Given the description of an element on the screen output the (x, y) to click on. 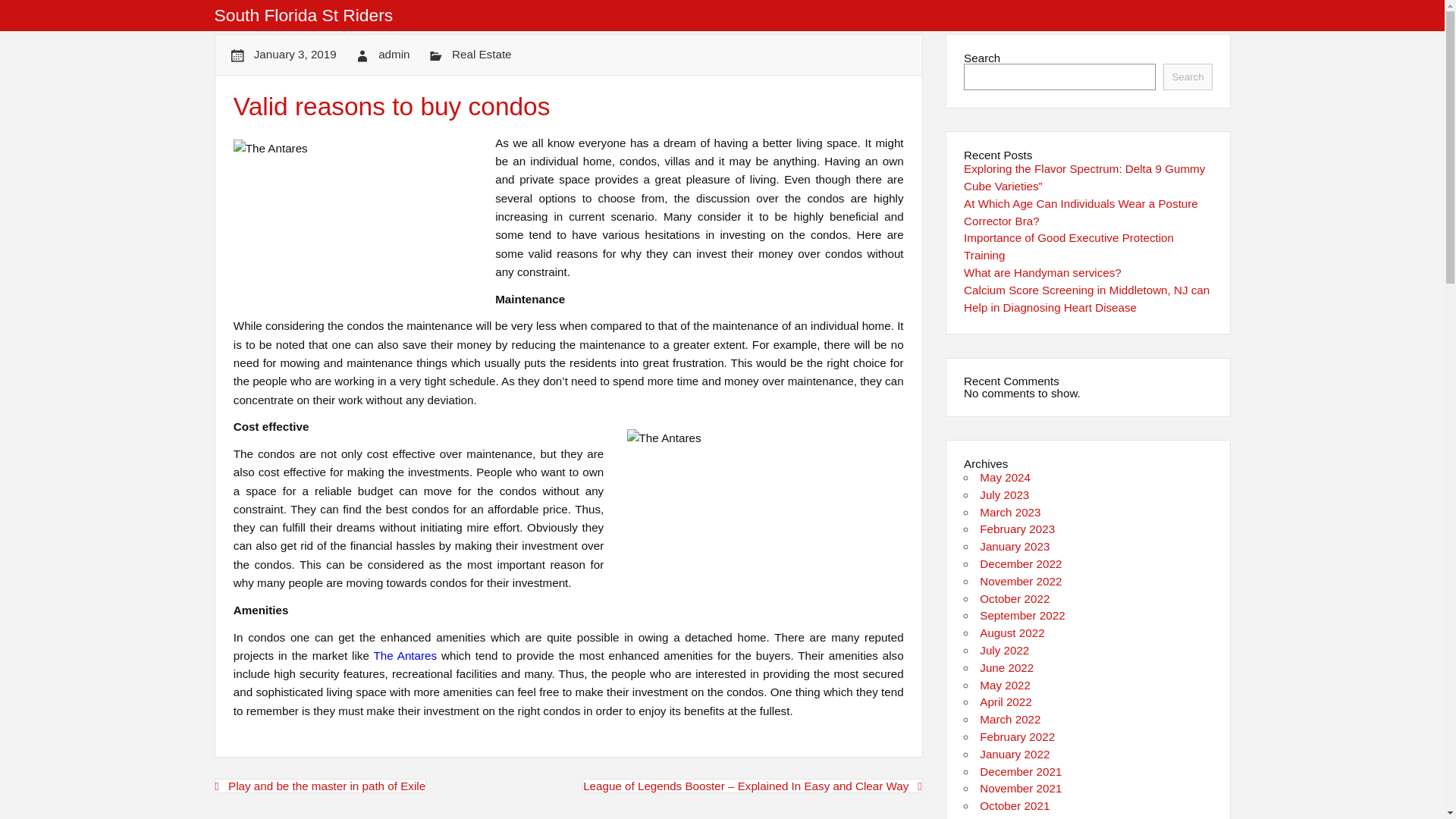
October 2021 (1014, 805)
December 2022 (1020, 563)
May 2024 (1004, 477)
December 2021 (1020, 771)
July 2022 (1004, 649)
June 2022 (1006, 667)
South Florida St Riders (303, 15)
The Antares (406, 655)
Search (1187, 76)
February 2023 (1016, 528)
View all posts by admin (393, 53)
April 2022 (1004, 701)
November 2021 (1020, 788)
January 2023 (1014, 545)
